Given the description of an element on the screen output the (x, y) to click on. 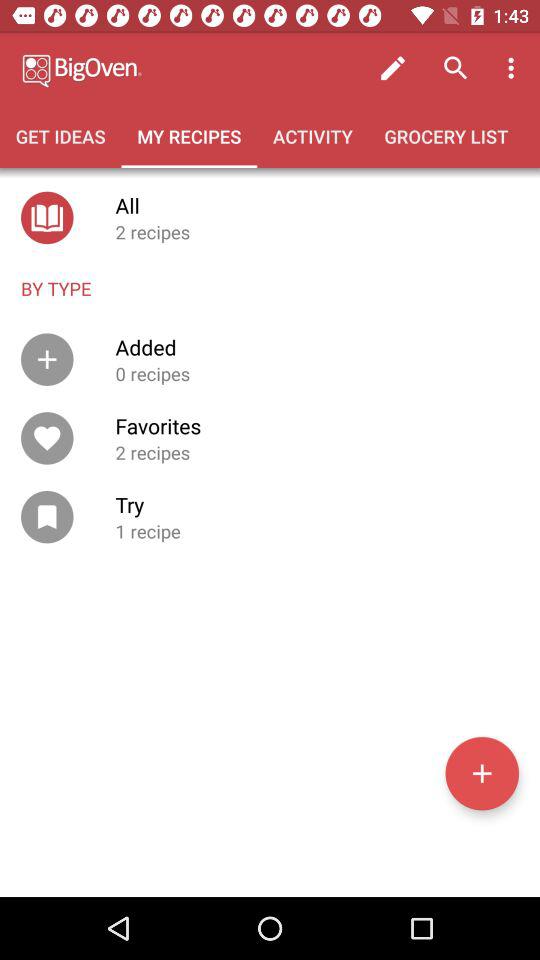
add button (482, 773)
